Given the description of an element on the screen output the (x, y) to click on. 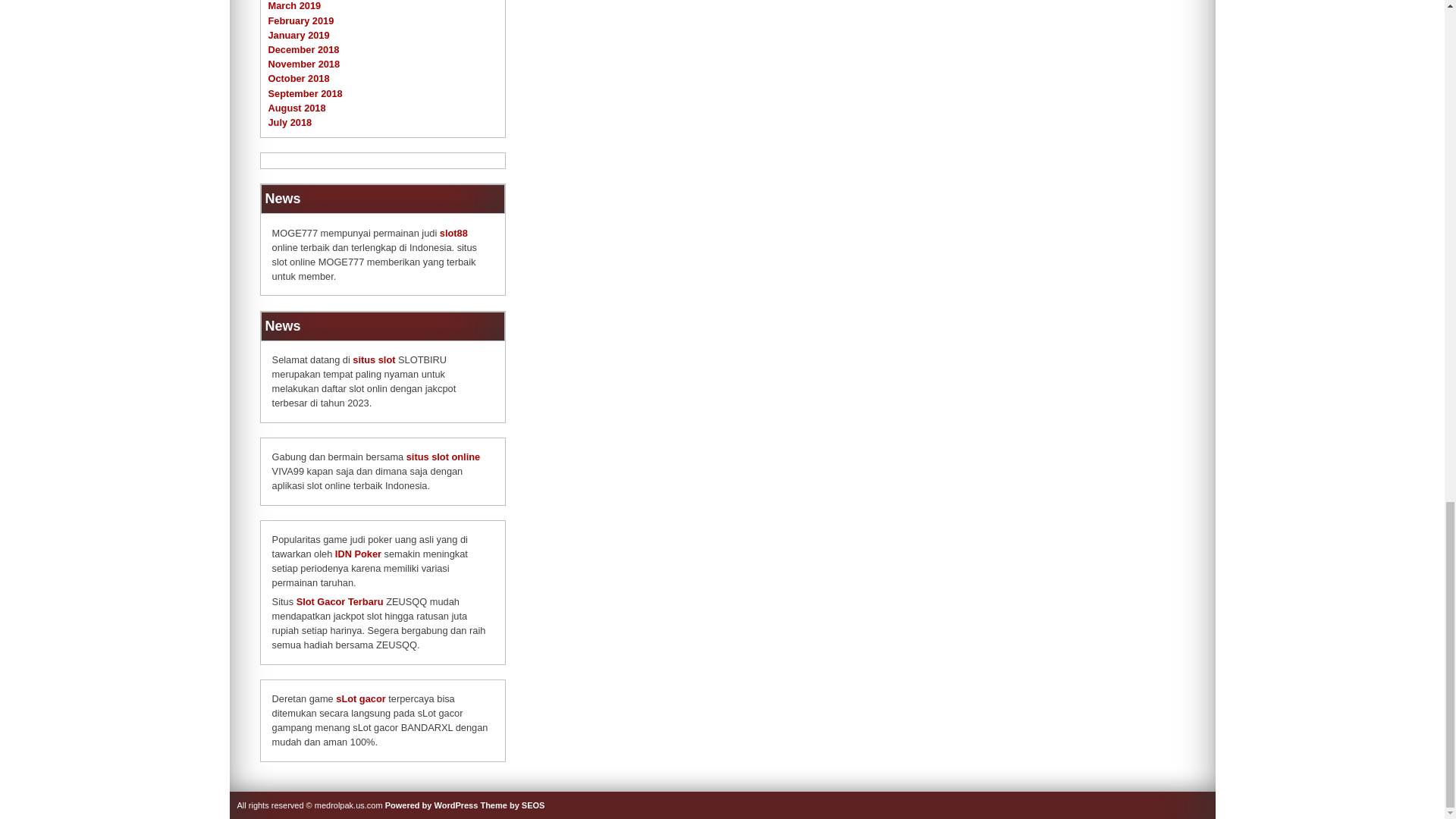
Seos free wordpress themes (512, 804)
